Given the description of an element on the screen output the (x, y) to click on. 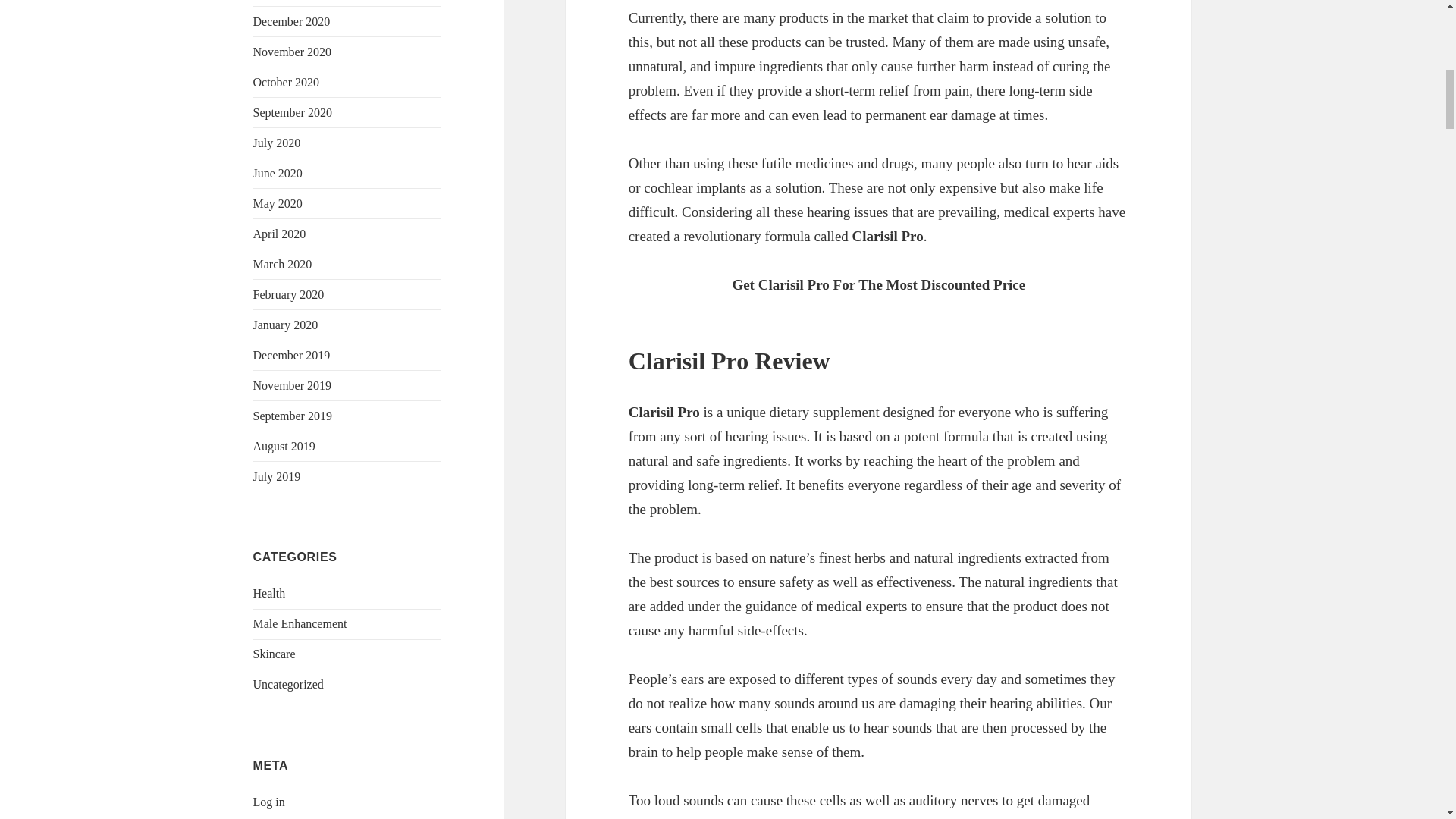
November 2019 (292, 385)
Get Clarisil Pro For The Most Discounted Price (878, 284)
April 2020 (279, 233)
May 2020 (277, 203)
Uncategorized (288, 684)
Health (269, 593)
February 2020 (288, 294)
January 2020 (285, 324)
August 2019 (284, 445)
December 2020 (291, 21)
